Given the description of an element on the screen output the (x, y) to click on. 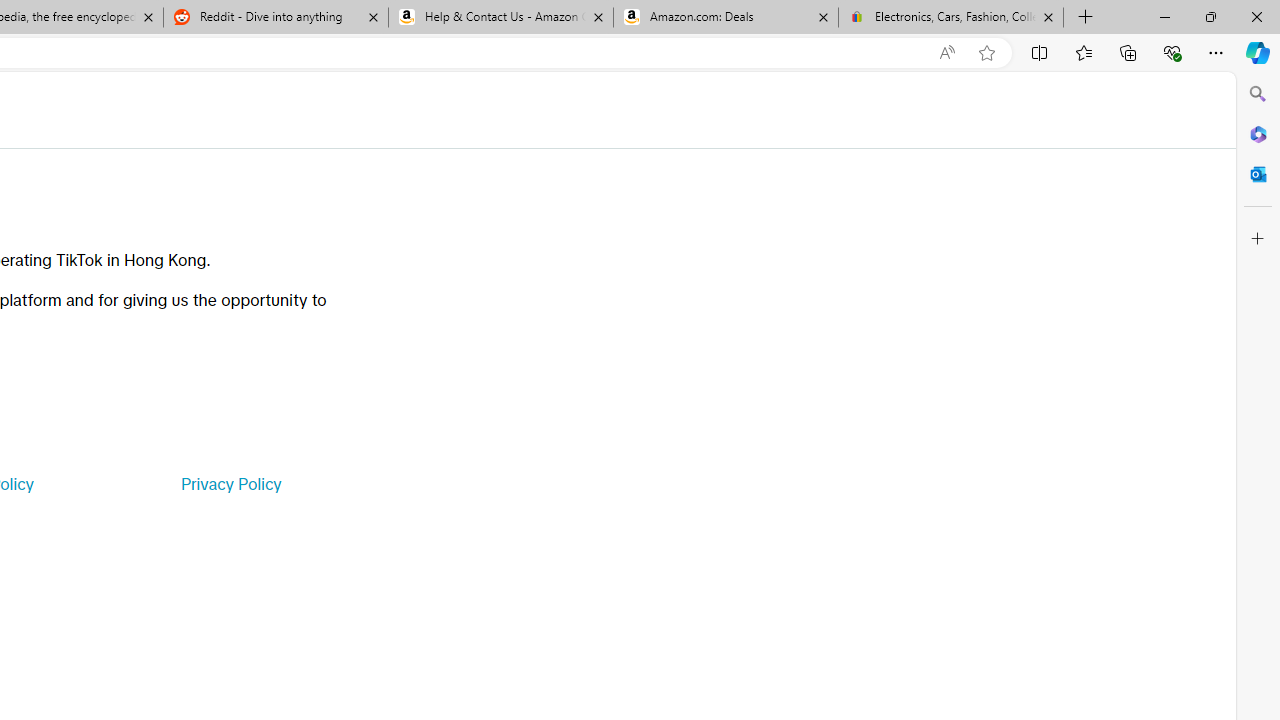
Close Outlook pane (1258, 174)
Reddit - Dive into anything (275, 17)
Microsoft 365 (1258, 133)
